Given the description of an element on the screen output the (x, y) to click on. 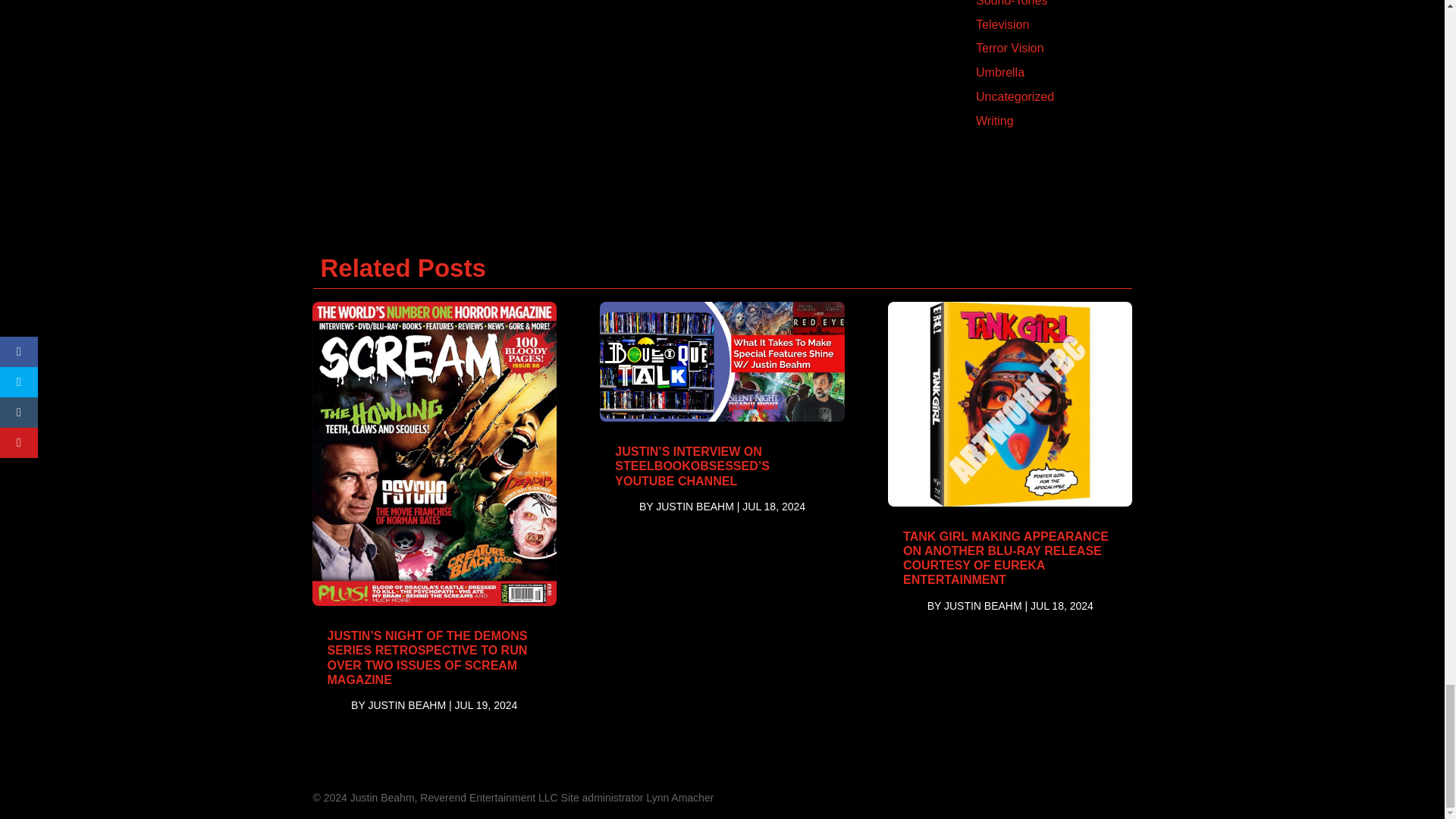
Posts by Justin Beahm (406, 705)
Posts by Justin Beahm (694, 506)
Posts by Justin Beahm (982, 605)
